Given the description of an element on the screen output the (x, y) to click on. 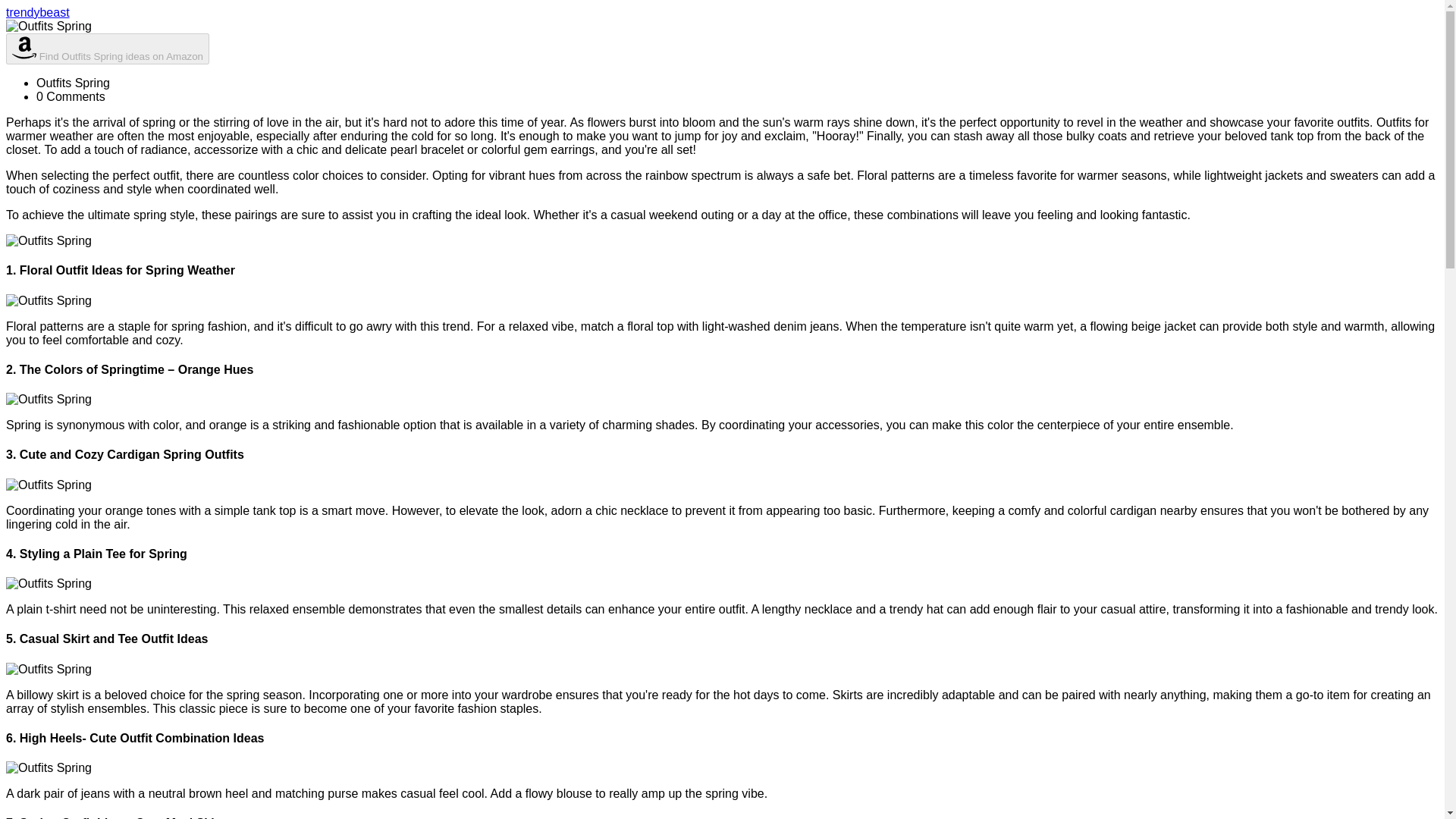
trendybeast (37, 11)
Find Outfits Spring ideas on Amazon (107, 48)
